Given the description of an element on the screen output the (x, y) to click on. 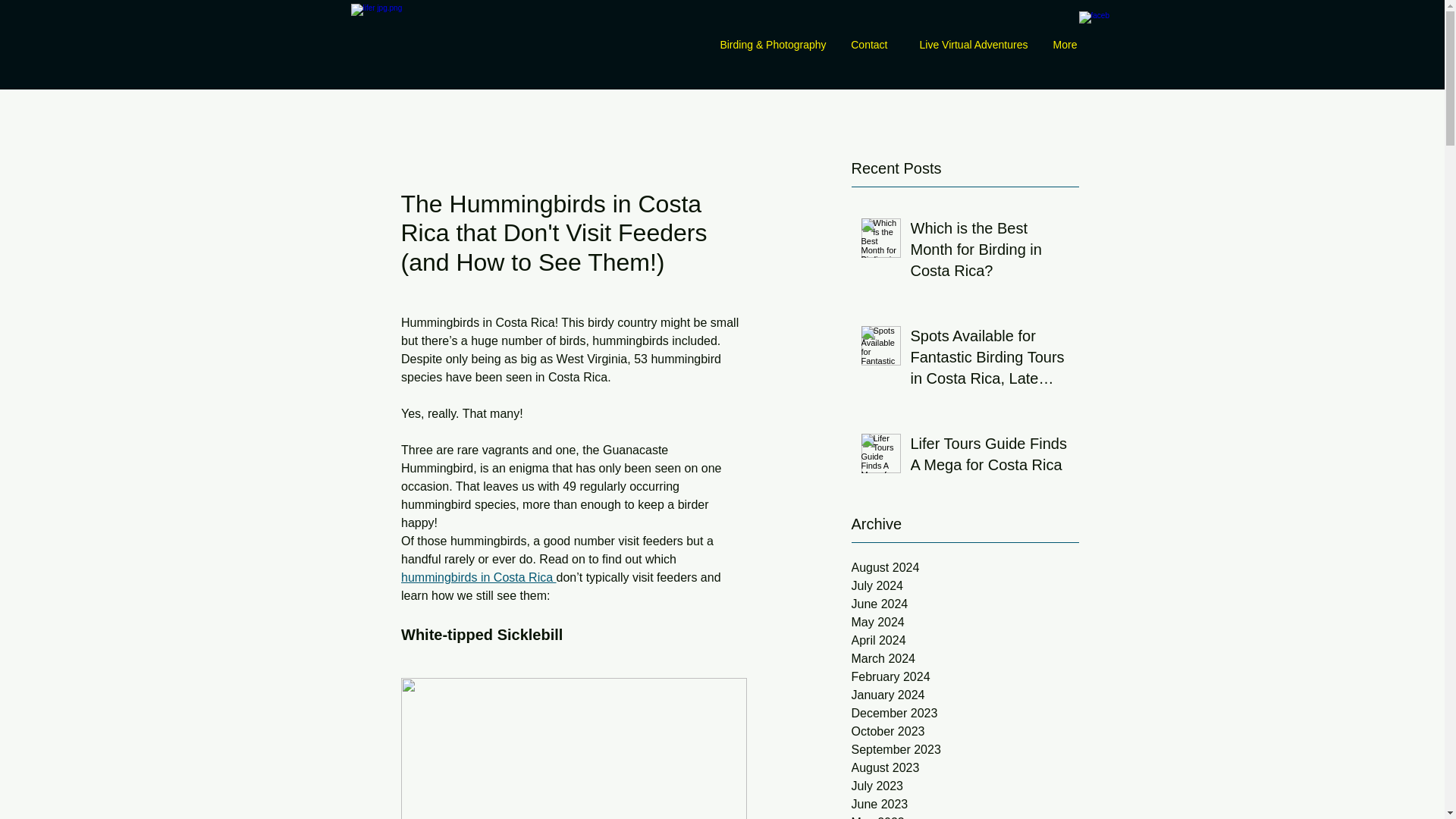
July 2023 (964, 786)
March 2024 (964, 659)
February 2024 (964, 677)
Which is the Best Month for Birding in Costa Rica? (989, 252)
September 2023 (964, 750)
August 2023 (964, 768)
June 2024 (964, 604)
May 2023 (964, 816)
Contact (867, 44)
April 2024 (964, 640)
